Given the description of an element on the screen output the (x, y) to click on. 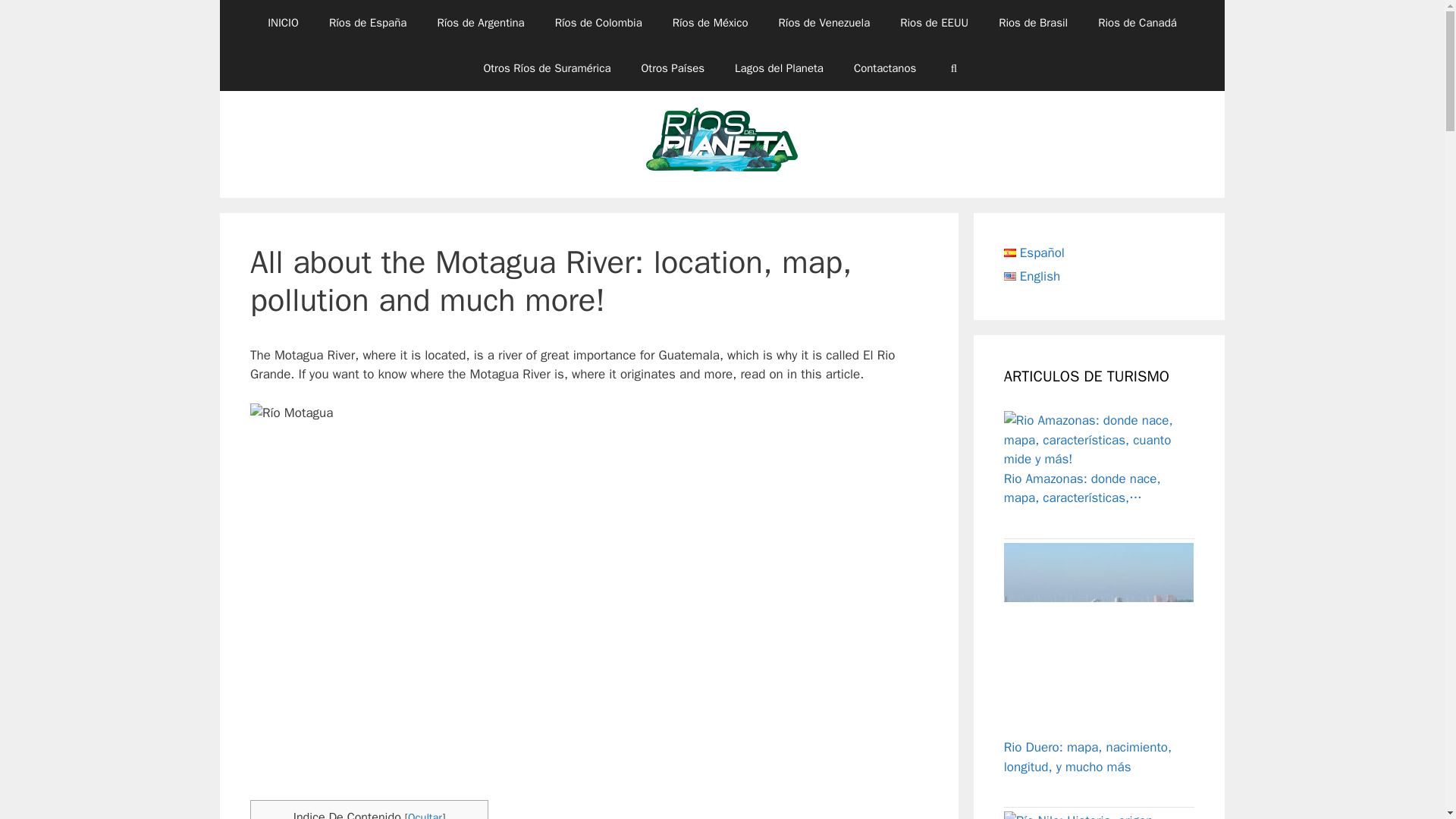
Rios de EEUU (934, 22)
Every River on Earth (722, 143)
Rios de Brasil (1033, 22)
Lagos del Planeta (778, 67)
Every River on Earth (722, 144)
INICIO (282, 22)
Ocultar (424, 814)
Contactanos (884, 67)
